Given the description of an element on the screen output the (x, y) to click on. 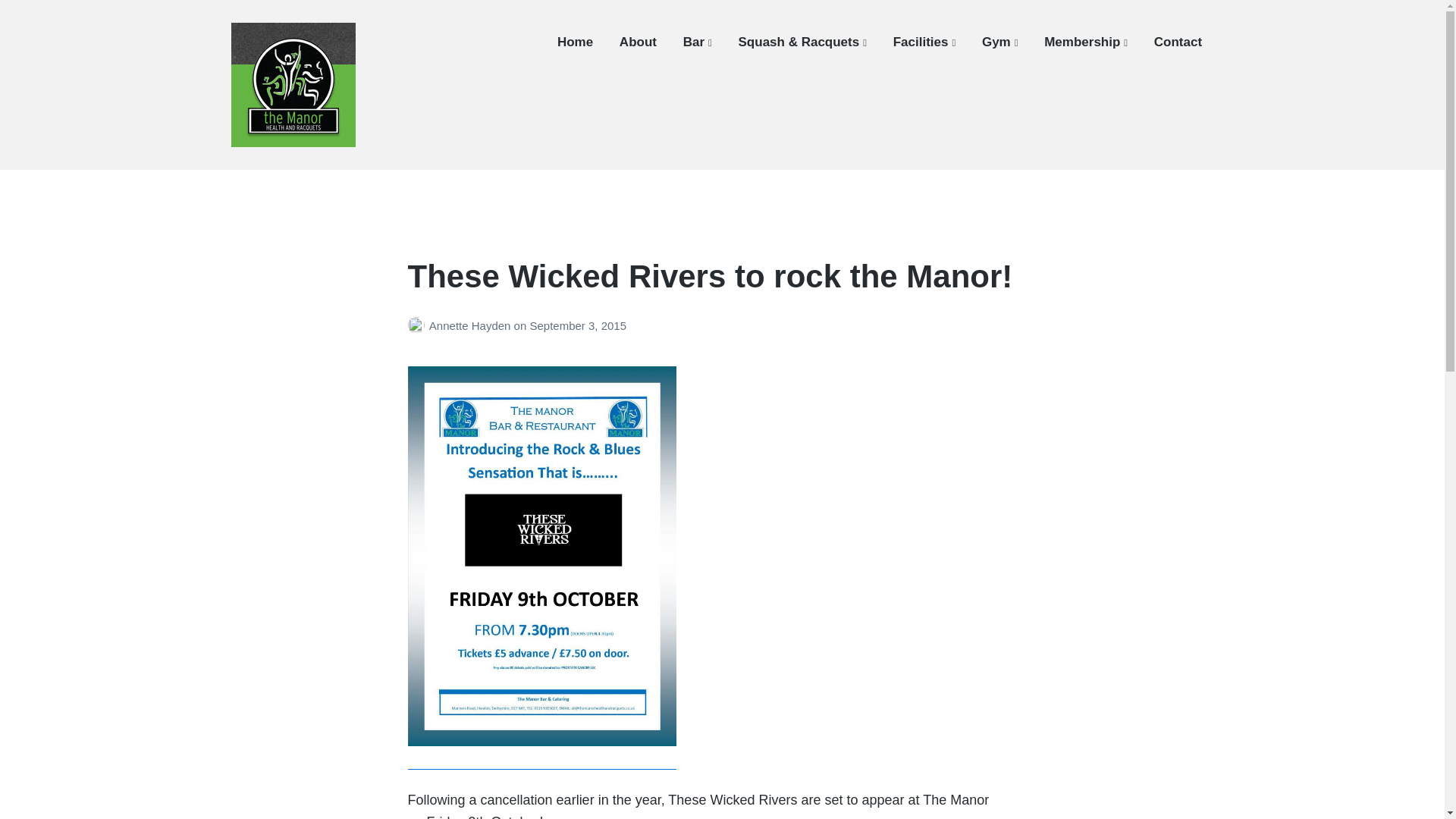
Manor Health and Racquets (360, 158)
Posts by Annette Hayden (418, 325)
